Given the description of an element on the screen output the (x, y) to click on. 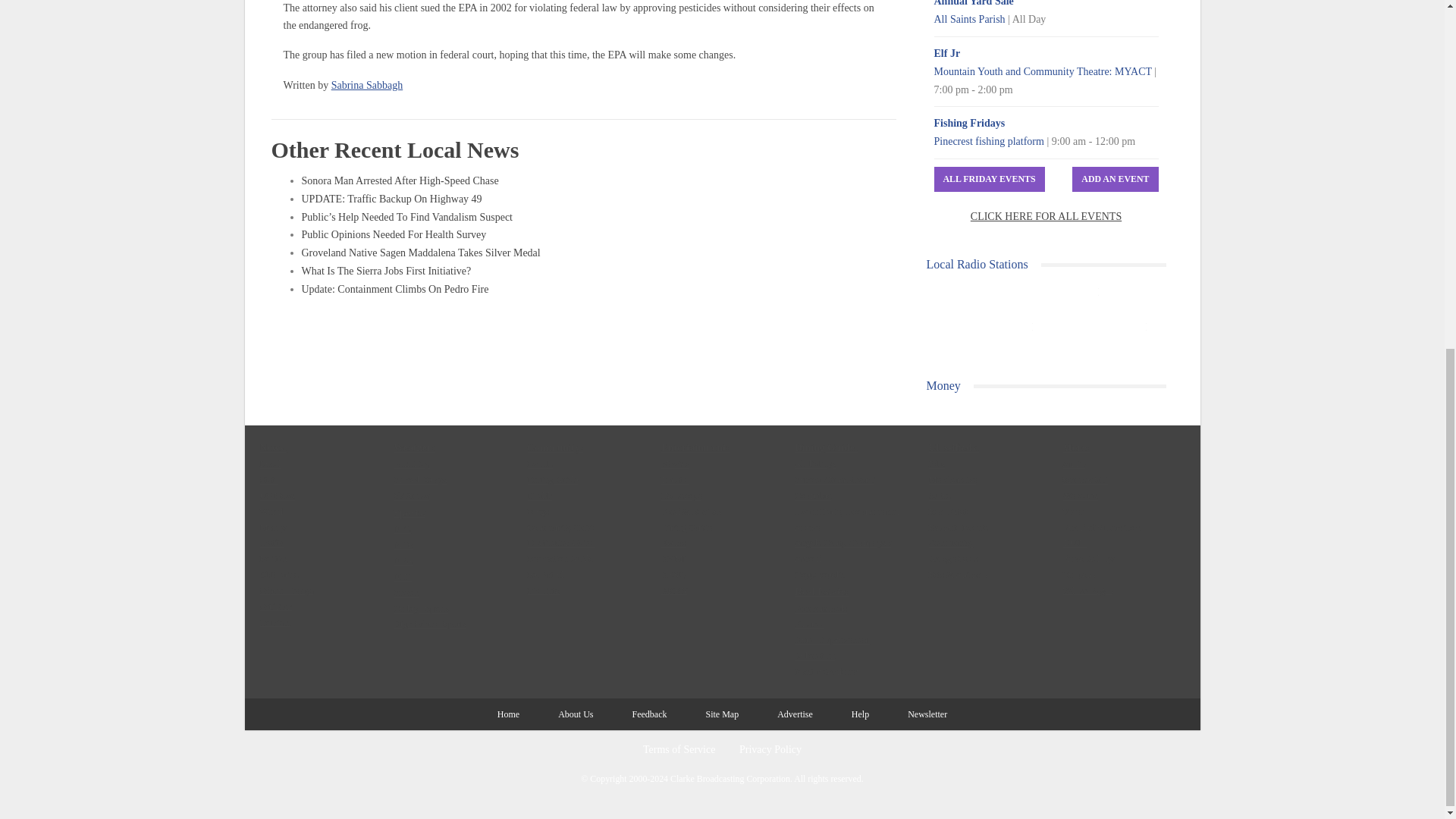
All Friday Events (989, 179)
Add An Event (1114, 179)
